Given the description of an element on the screen output the (x, y) to click on. 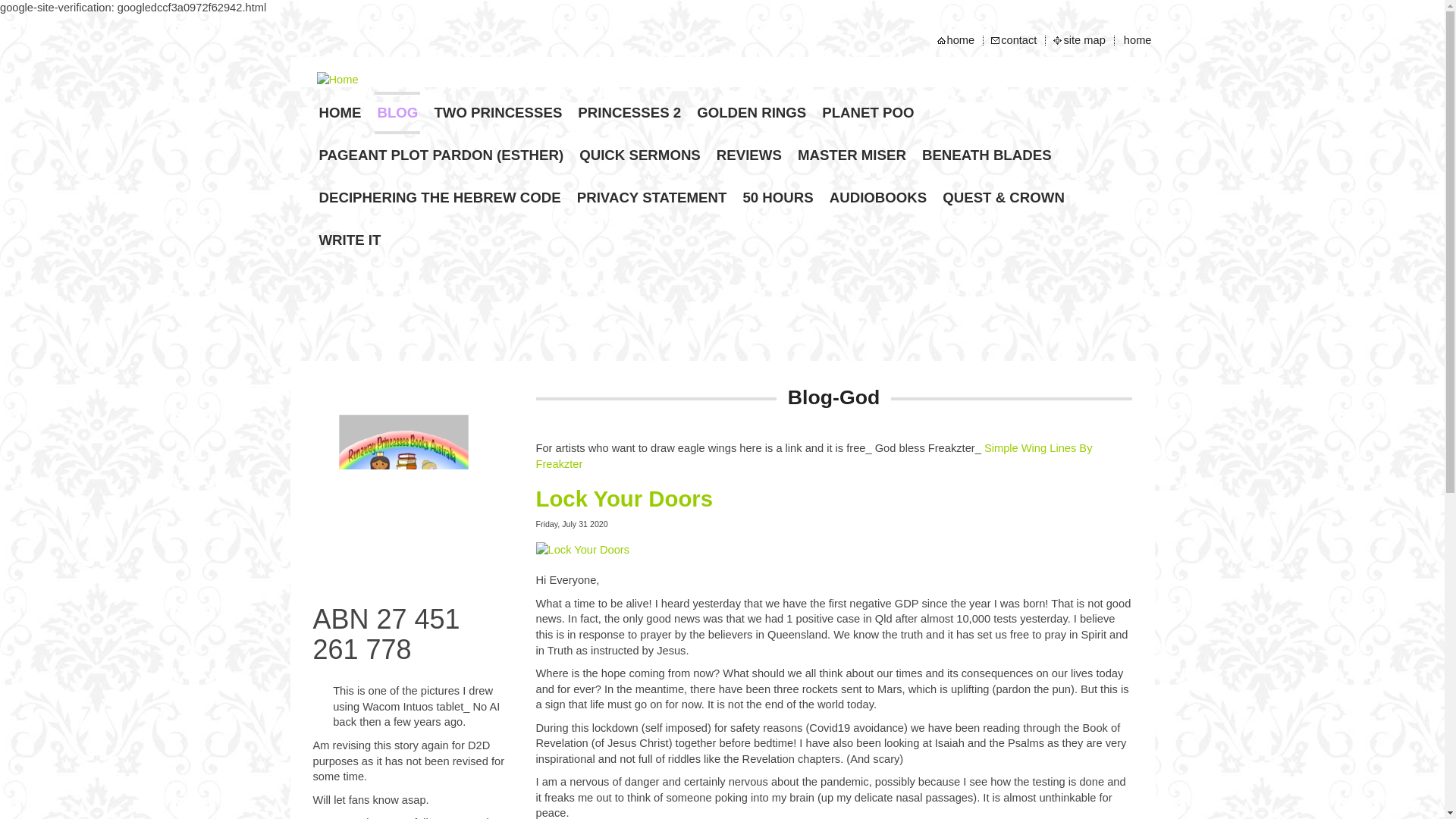
PLANET POO (867, 112)
QUICK SERMONS (639, 155)
MASTER MISER (851, 155)
home (960, 40)
Simple Wing Lines By Freakzter (813, 456)
REVIEWS (749, 155)
BLOG (397, 112)
GOLDEN RINGS (751, 112)
contact (1019, 40)
HOME (340, 112)
